Given the description of an element on the screen output the (x, y) to click on. 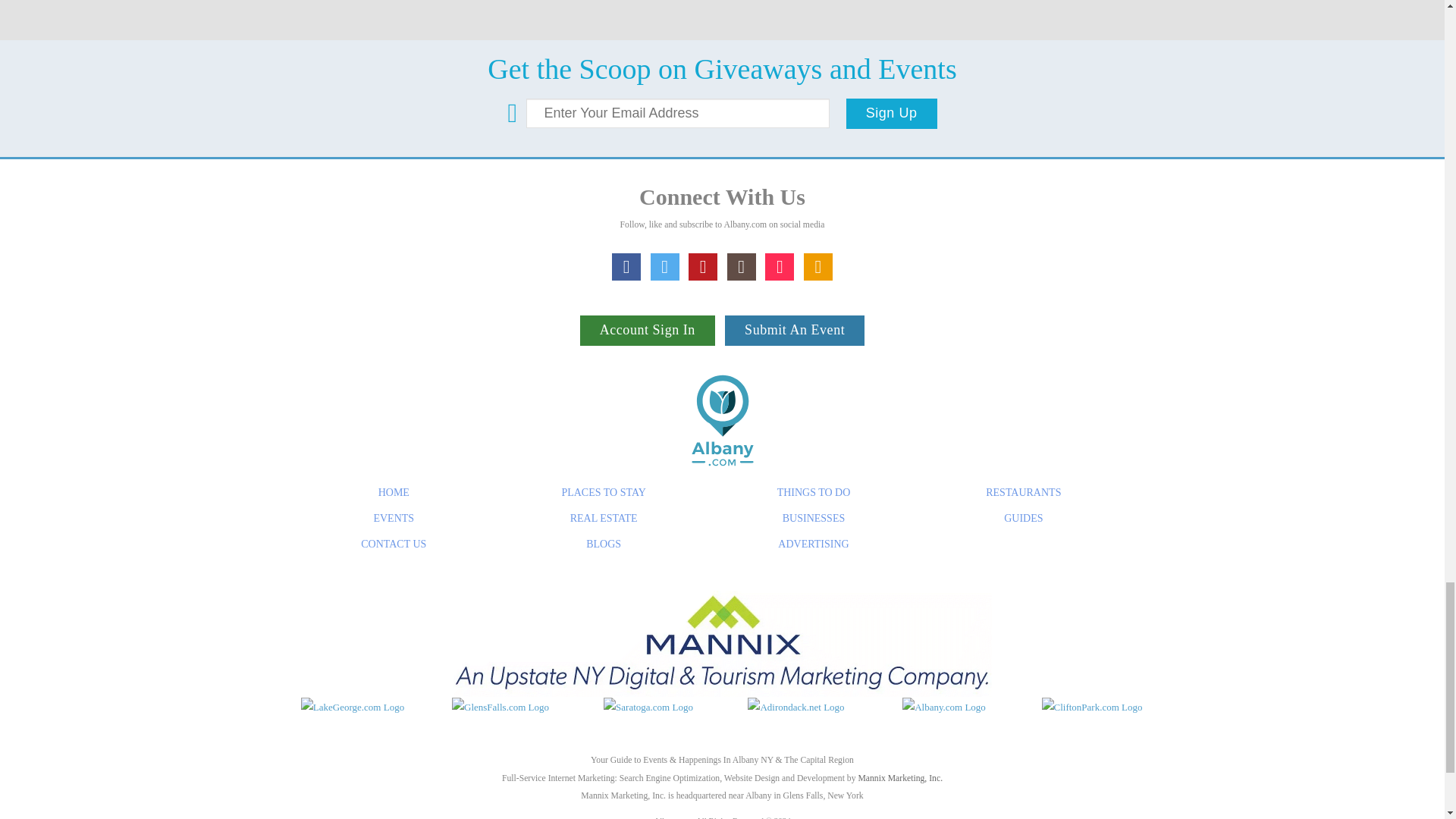
Pinterest (702, 266)
X (664, 266)
TikTok (779, 266)
Facebook (625, 266)
Instagram (740, 266)
